Given the description of an element on the screen output the (x, y) to click on. 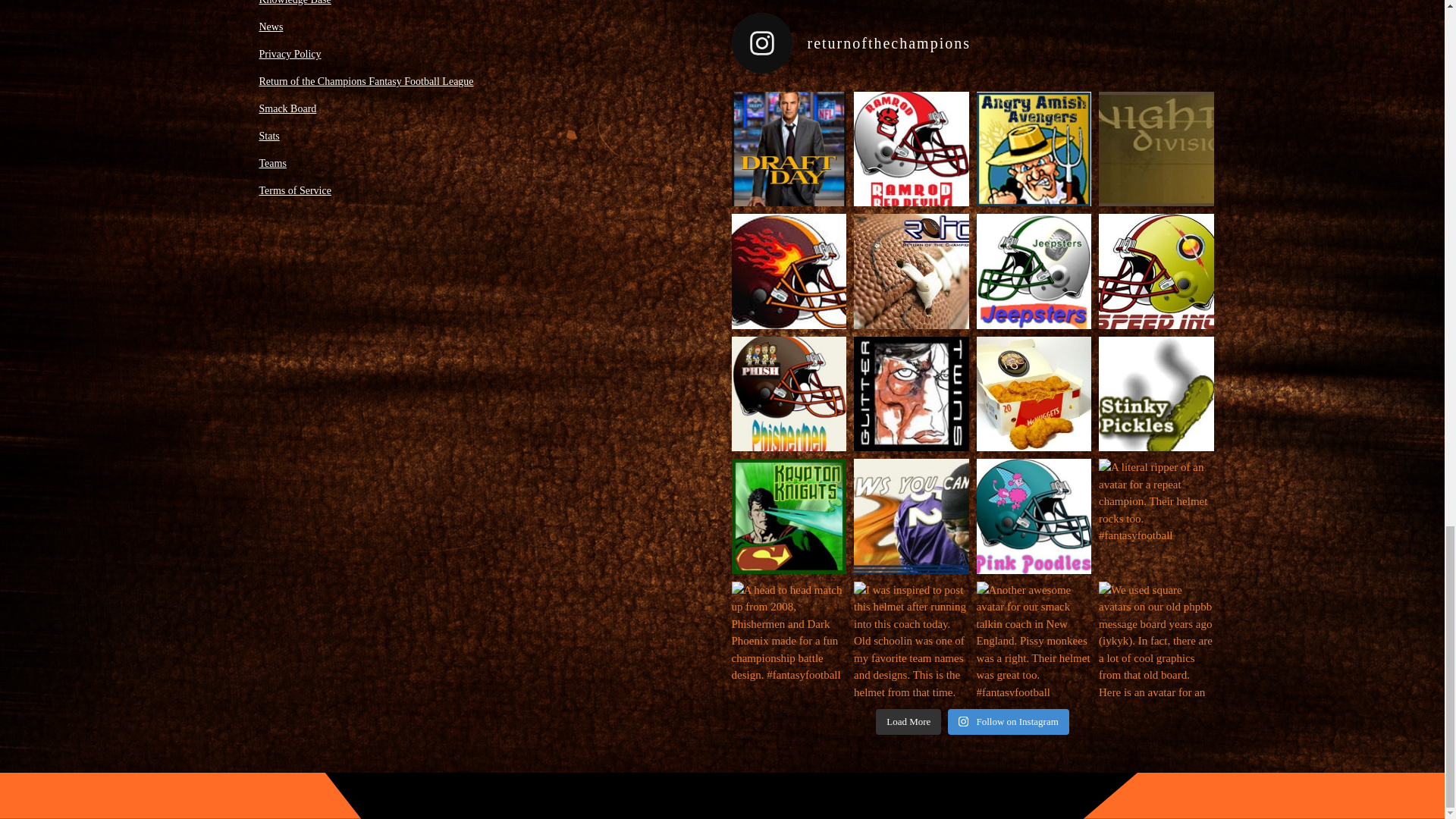
Privacy Policy (290, 53)
Return of the Champions Fantasy Football League (366, 81)
Knowledge Base (295, 2)
News (271, 26)
